Given the description of an element on the screen output the (x, y) to click on. 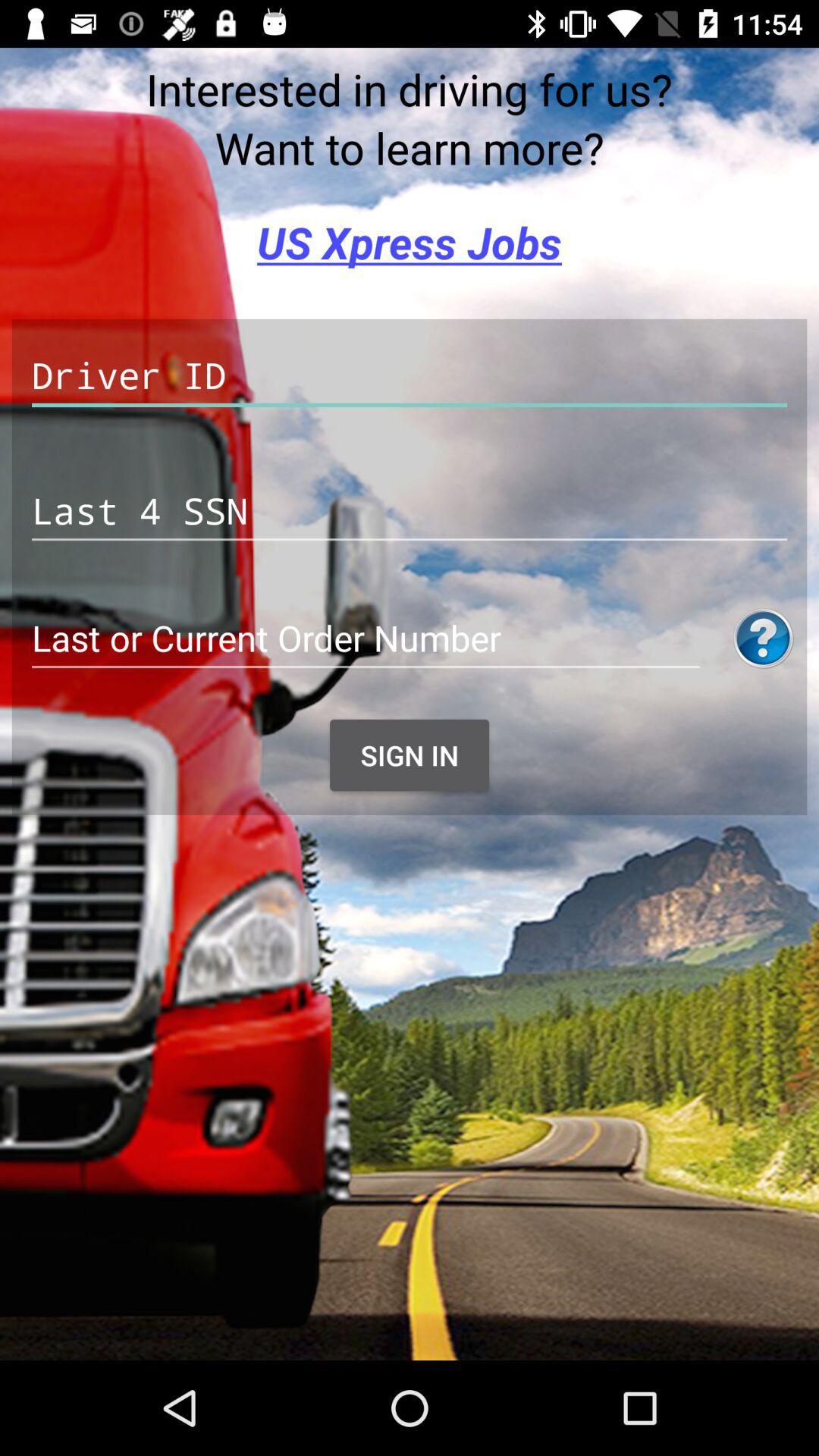
texte box to fill in driver id (409, 375)
